Given the description of an element on the screen output the (x, y) to click on. 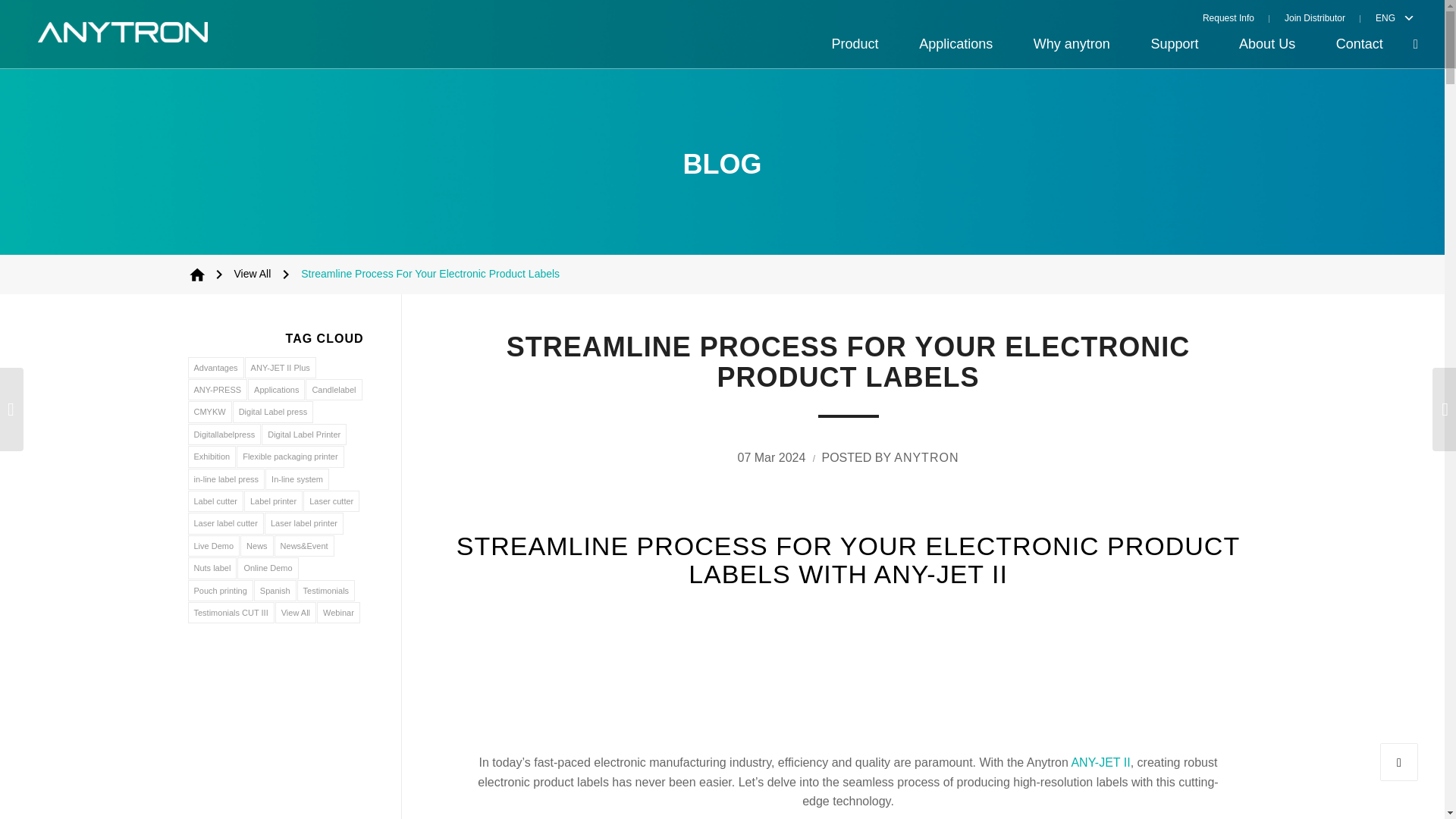
Anytron - Digital Print Pro (196, 274)
Request Info (1235, 17)
Product (855, 44)
Applications (955, 44)
Scroll to top (1399, 761)
Join Distributor (1314, 17)
ENG (1381, 17)
